Given the description of an element on the screen output the (x, y) to click on. 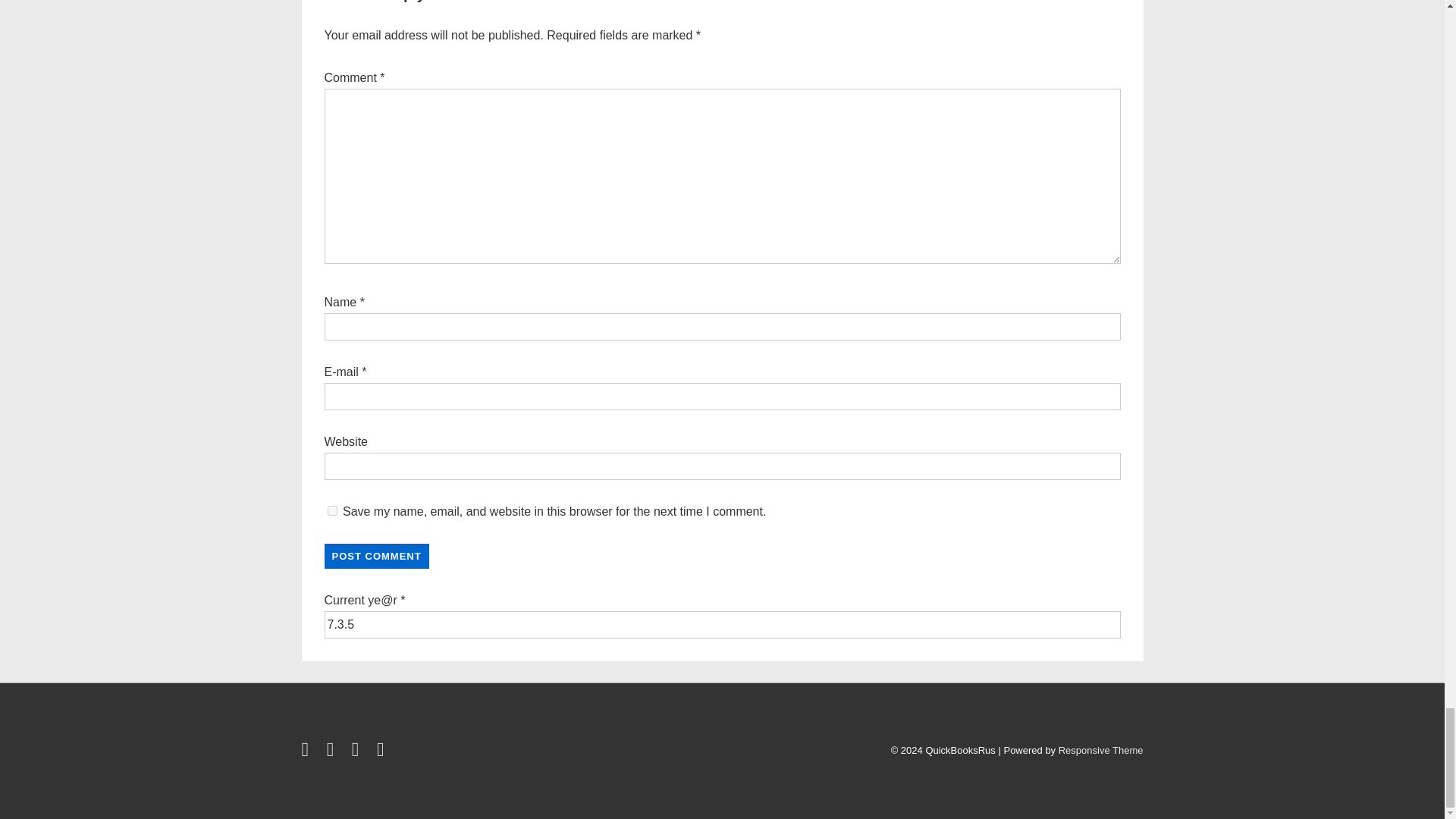
linkedin (333, 752)
Post Comment (376, 555)
yes (332, 510)
email (382, 752)
facebook (308, 752)
7.3.5 (722, 624)
youtube (358, 752)
